Given the description of an element on the screen output the (x, y) to click on. 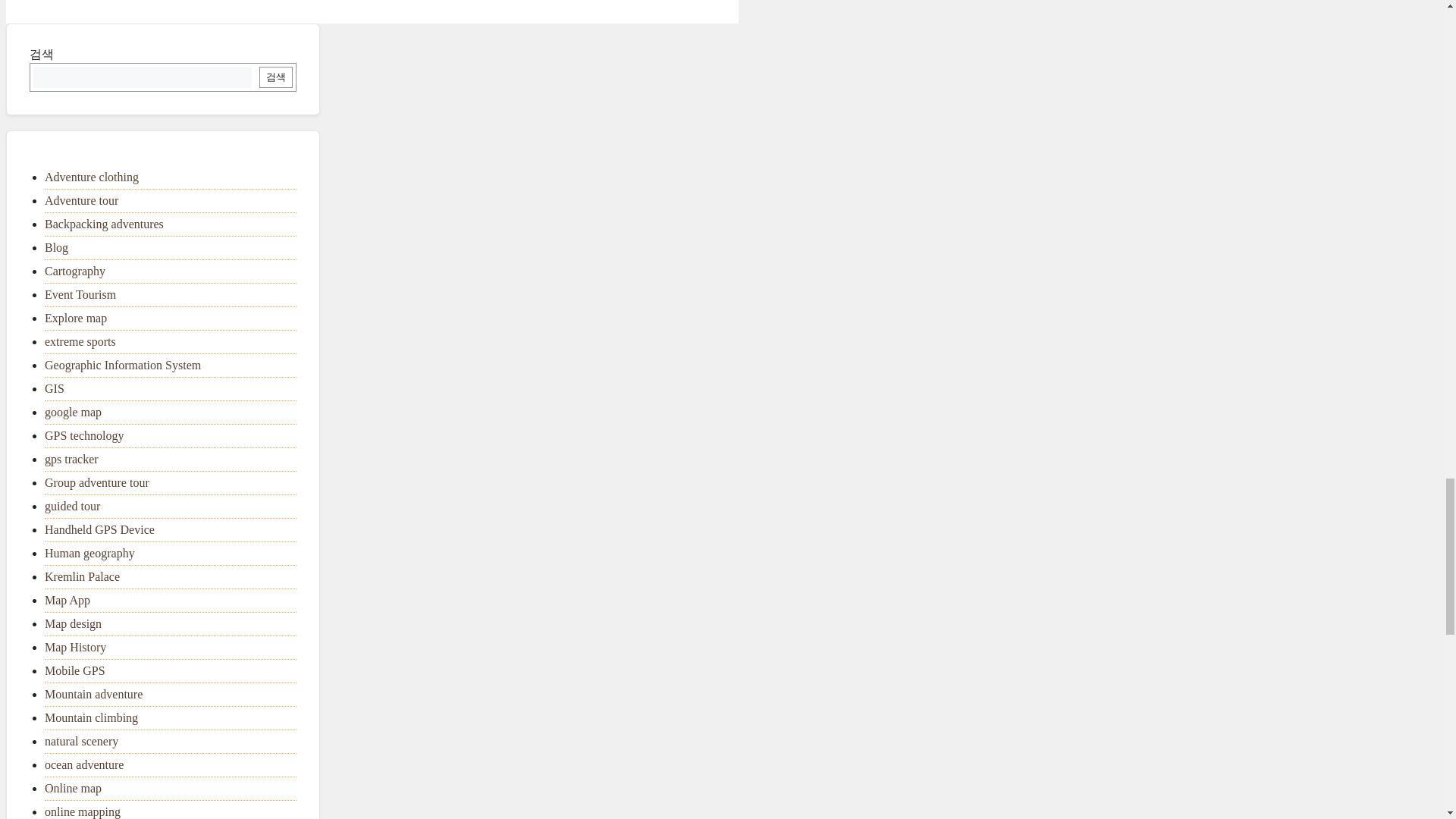
Adventure tour (81, 200)
Explore map (75, 318)
Blog (56, 246)
Adventure clothing (91, 176)
Cartography (74, 270)
Backpacking adventures (104, 223)
Event Tourism (80, 294)
